Given the description of an element on the screen output the (x, y) to click on. 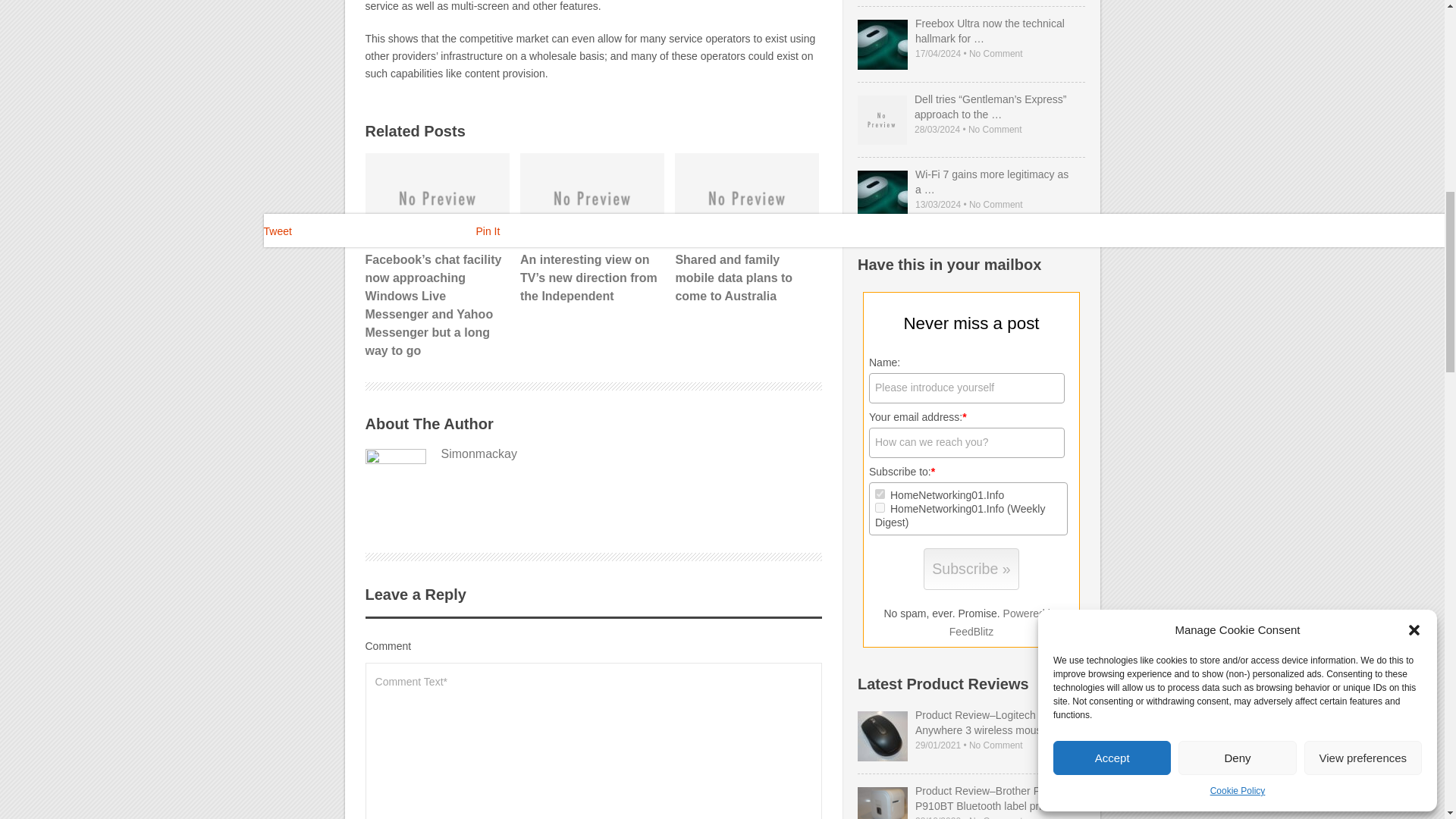
992216 (880, 493)
Shared and family mobile data plans to come to Australia (746, 229)
992220 (880, 507)
